Given the description of an element on the screen output the (x, y) to click on. 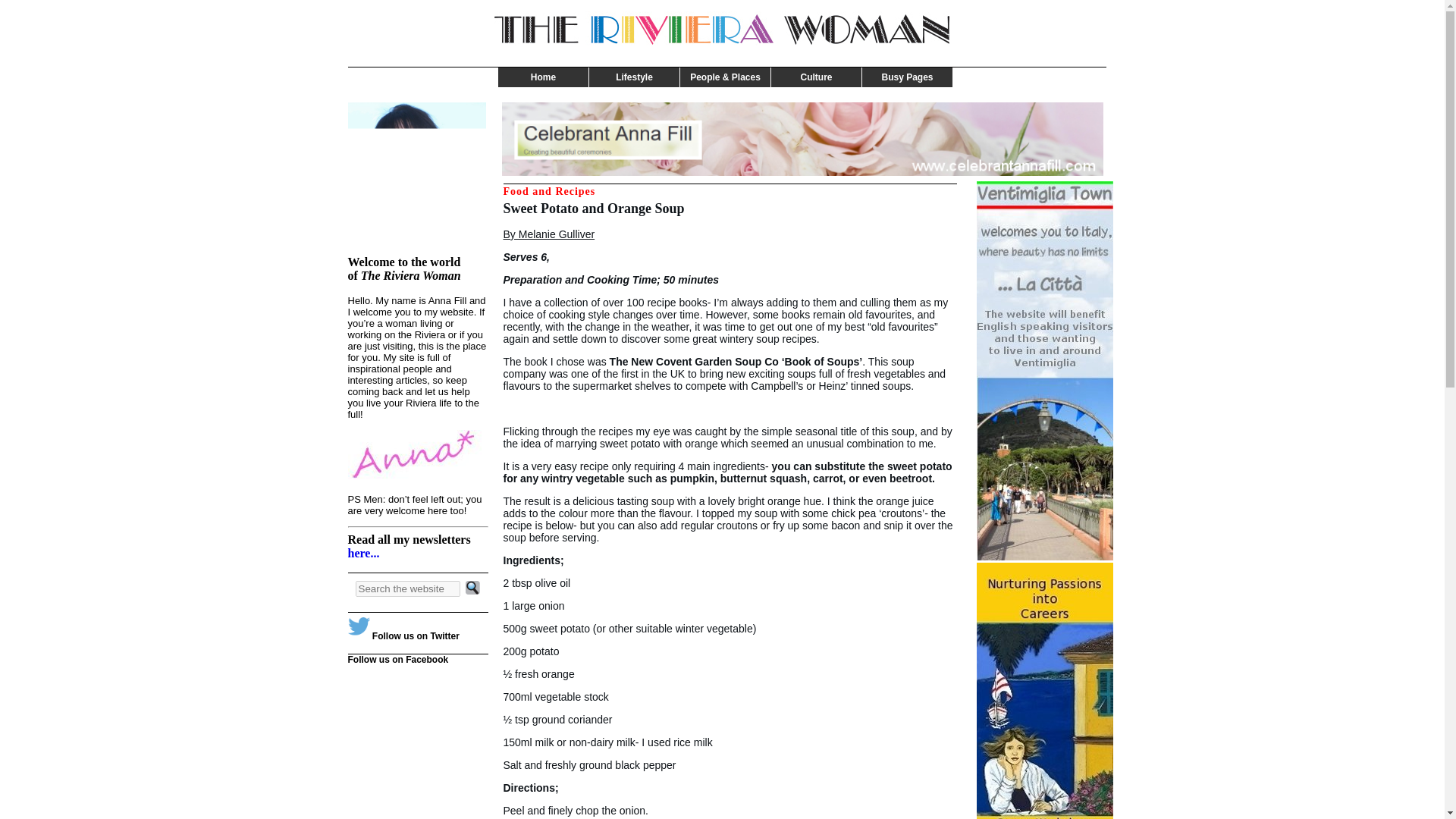
here... (362, 553)
twitter (358, 628)
CelebrantAnnaFill (802, 139)
Find articles containing this text (407, 588)
Culture (816, 76)
Home (543, 76)
Find articles containing this text (472, 587)
Lifestyle (634, 76)
Busy Pages (907, 76)
